Given the description of an element on the screen output the (x, y) to click on. 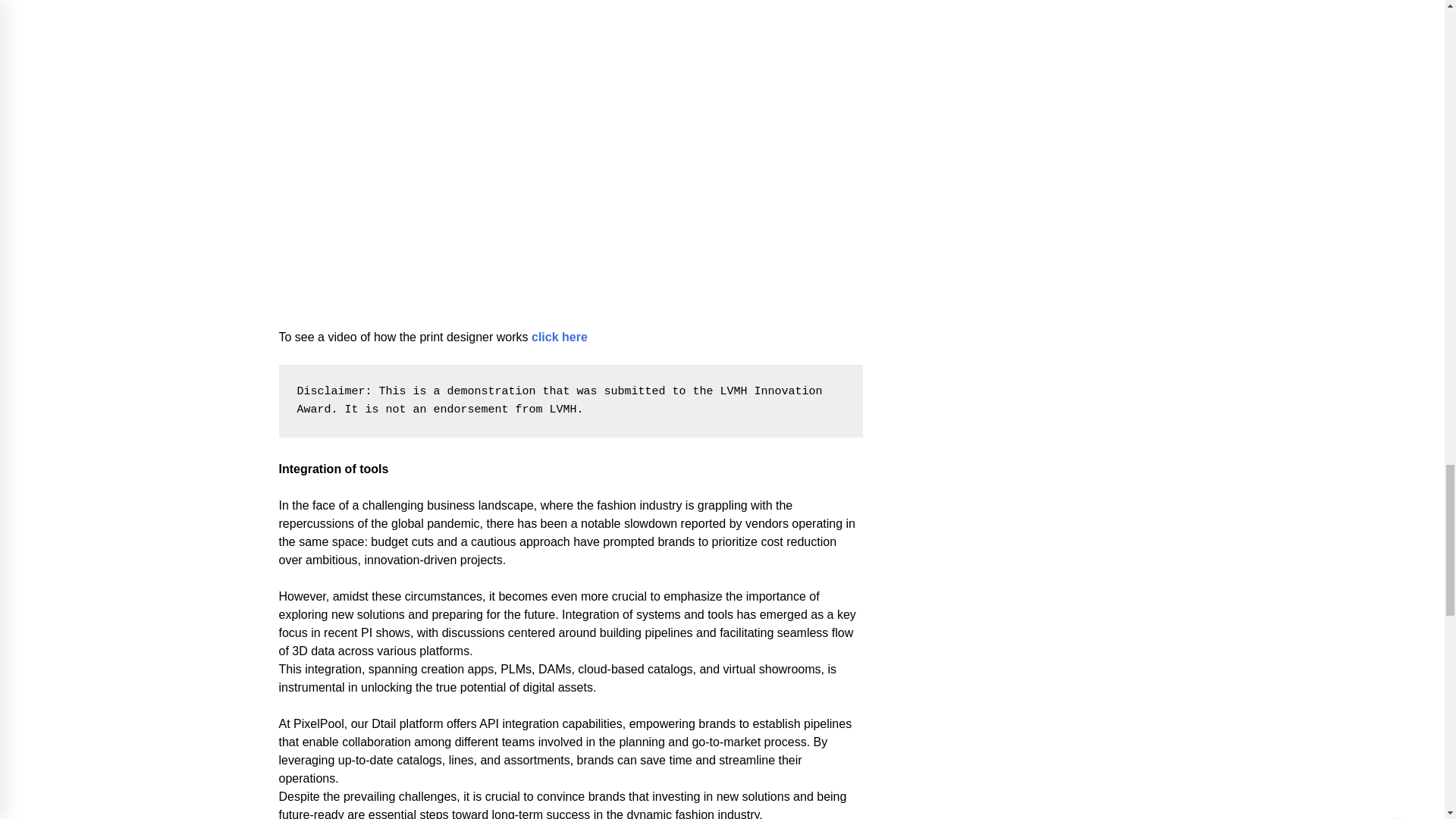
click here (559, 336)
